Given the description of an element on the screen output the (x, y) to click on. 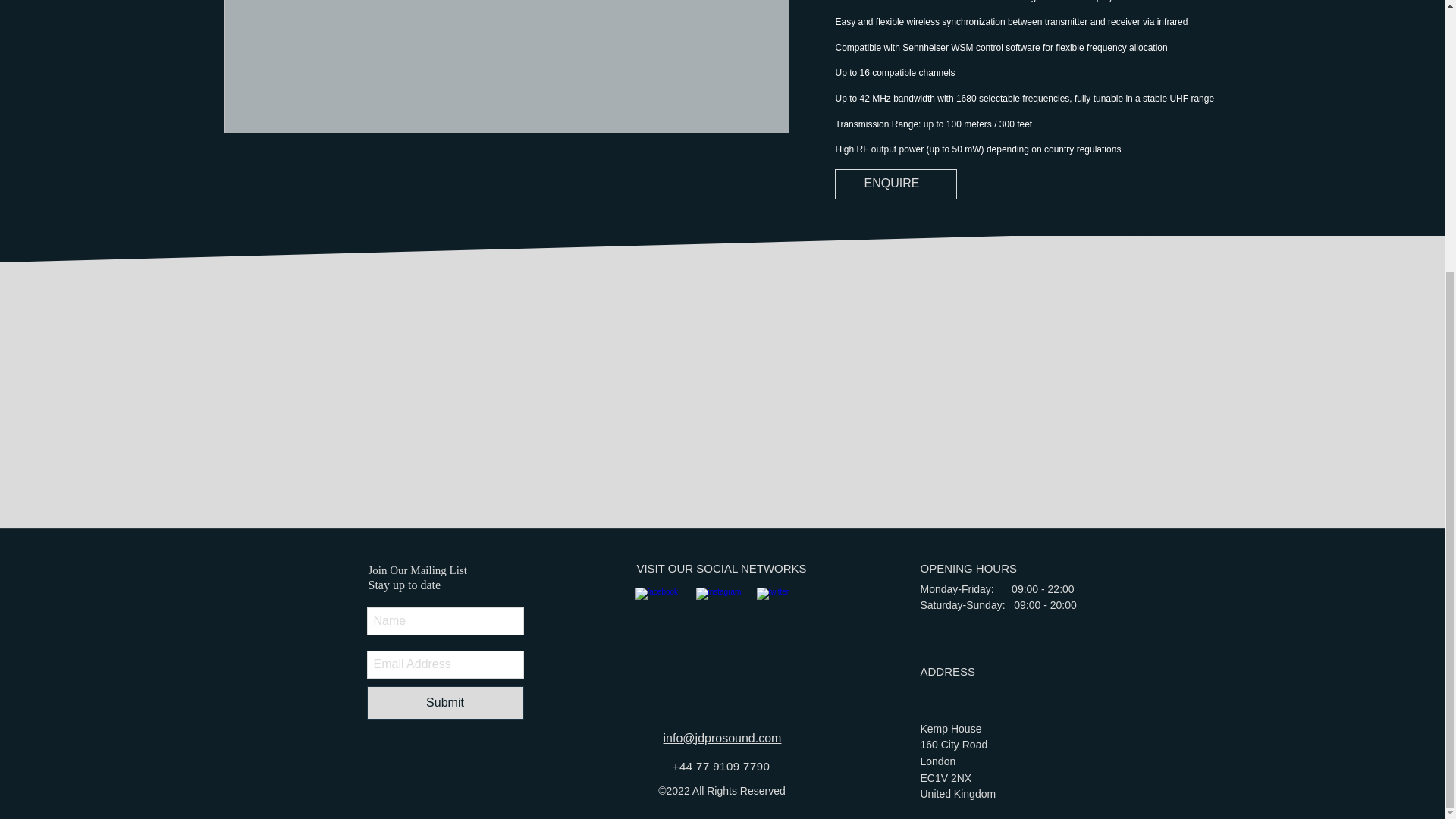
ENQUIRE (895, 183)
Submit (445, 702)
